Given the description of an element on the screen output the (x, y) to click on. 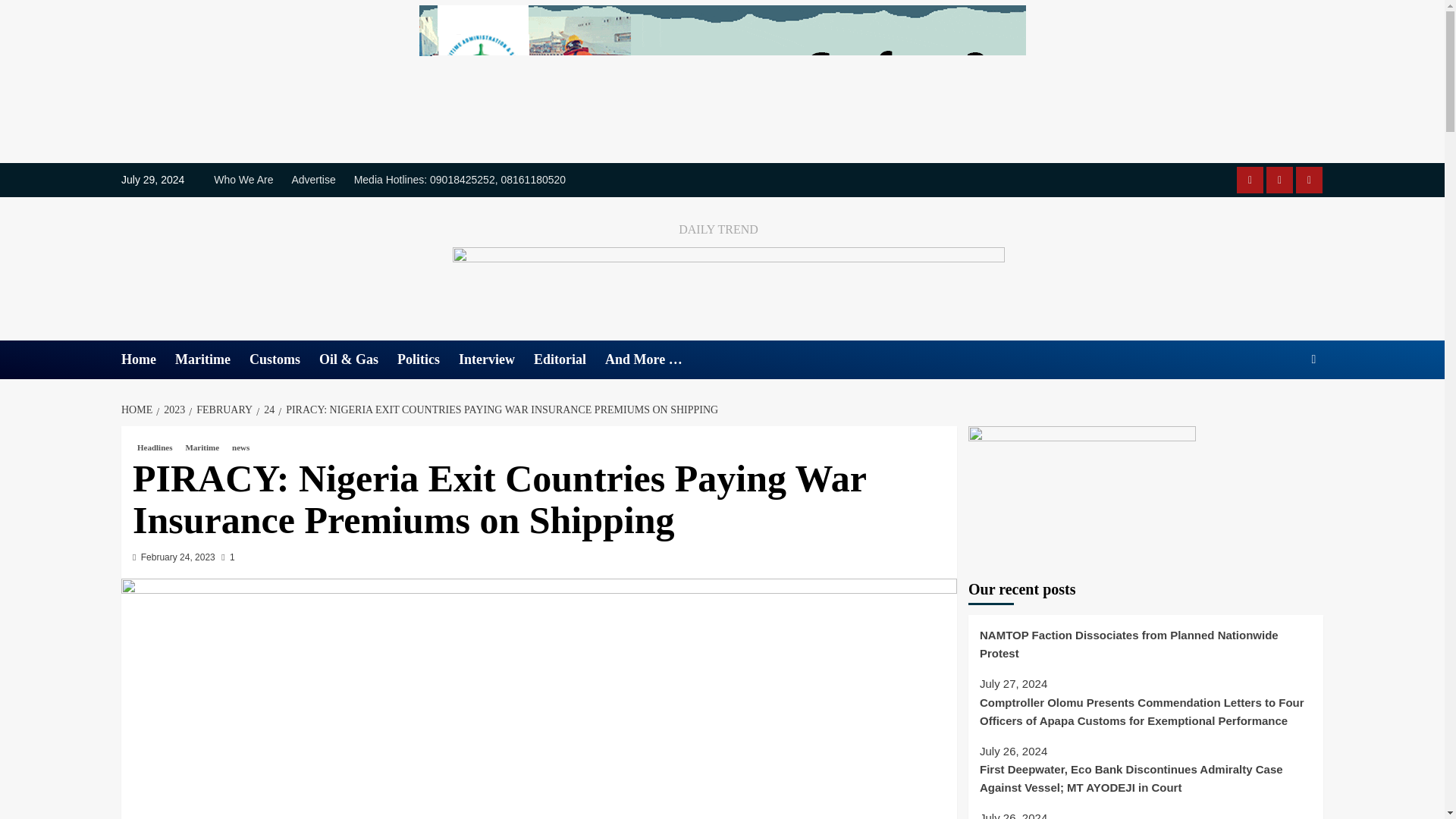
Advertise (312, 179)
Who We Are (1249, 180)
Home (147, 359)
Who We Are (247, 179)
Maritime (211, 359)
Advertise (1279, 180)
Politics (427, 359)
FEBRUARY (222, 409)
24 (267, 409)
Media Hotlines: 09018425252, 08161180520 (459, 179)
Interview (496, 359)
2023 (172, 409)
Media Hotlines: 09018425252, 08161180520 (1308, 180)
news (240, 447)
Search (1278, 406)
